Given the description of an element on the screen output the (x, y) to click on. 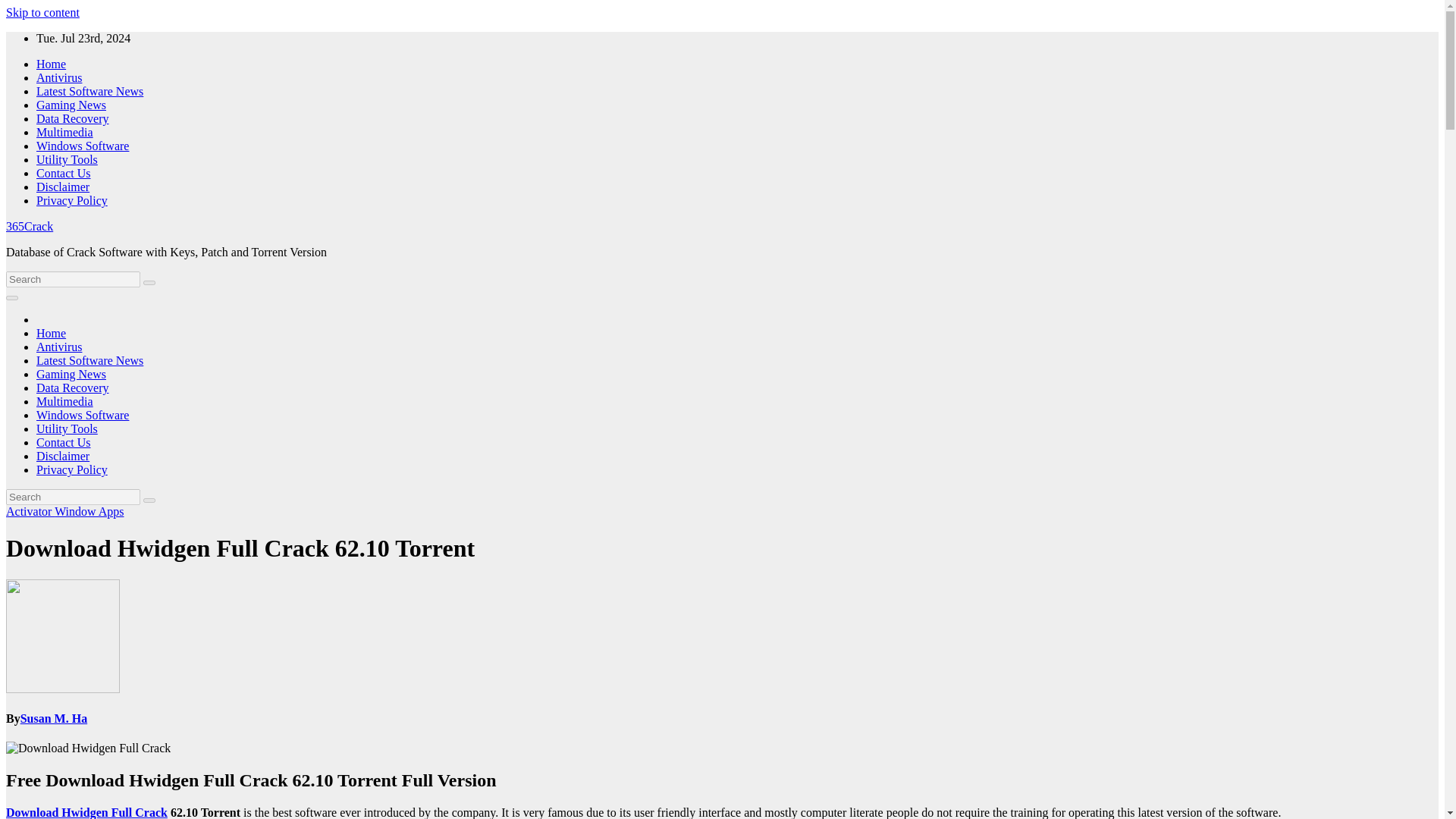
Download Hwidgen Full Crack (86, 812)
Susan M. Ha (53, 717)
Utility Tools (66, 159)
Home (50, 332)
Home (50, 63)
Windows Software (82, 414)
Contact Us (63, 173)
Home (50, 332)
Windows Software (82, 414)
Disclaimer (62, 455)
Latest Software News (89, 91)
365Crack (28, 226)
Windows Software (82, 145)
Window Apps (89, 511)
Activator (30, 511)
